Given the description of an element on the screen output the (x, y) to click on. 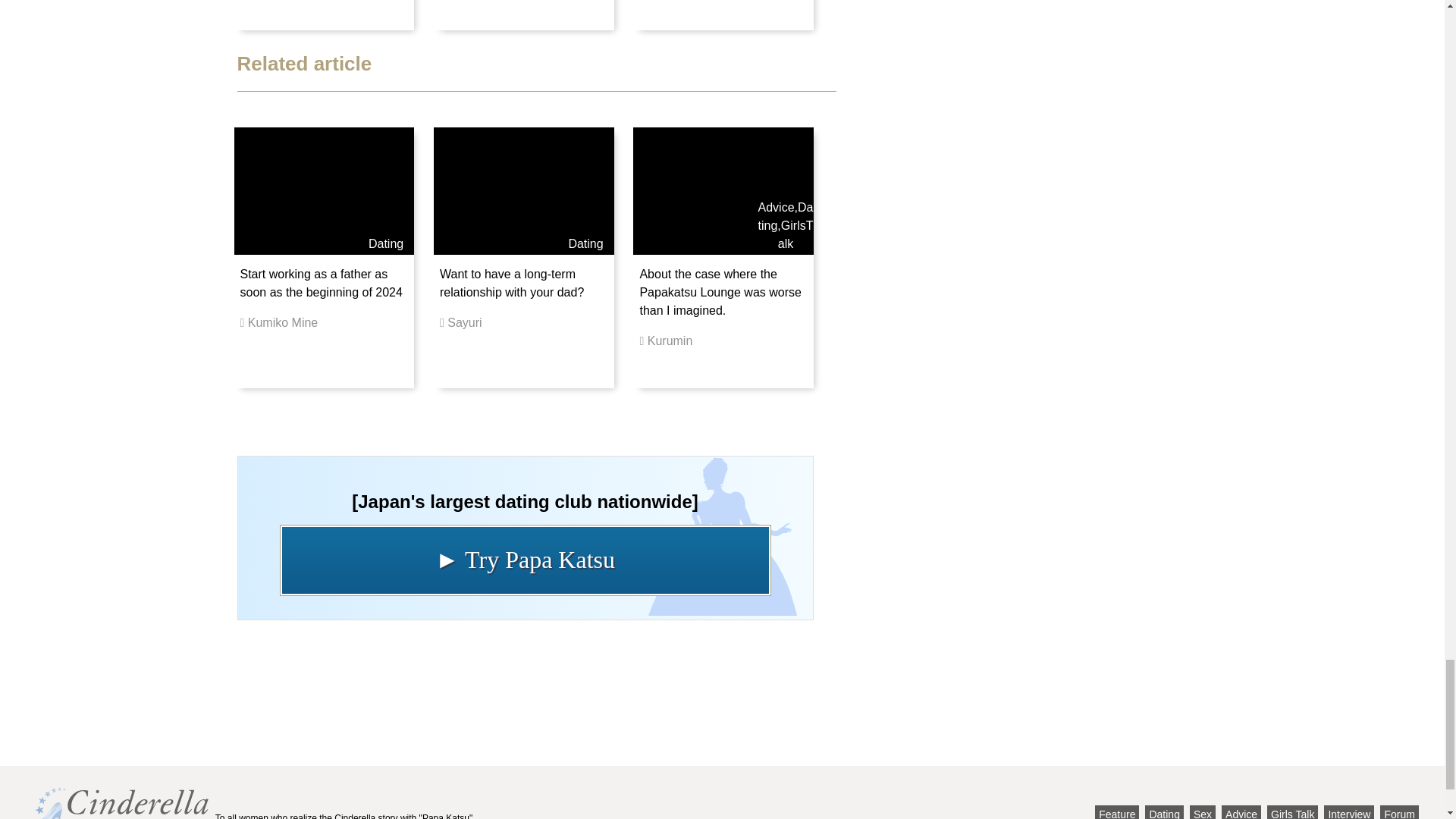
Dating (785, 215)
Dating (584, 243)
Dating (385, 243)
Advice (776, 206)
Want to have a long-term relationship with your dad? (511, 282)
Start working as a father as soon as the beginning of 2024 (320, 282)
